Given the description of an element on the screen output the (x, y) to click on. 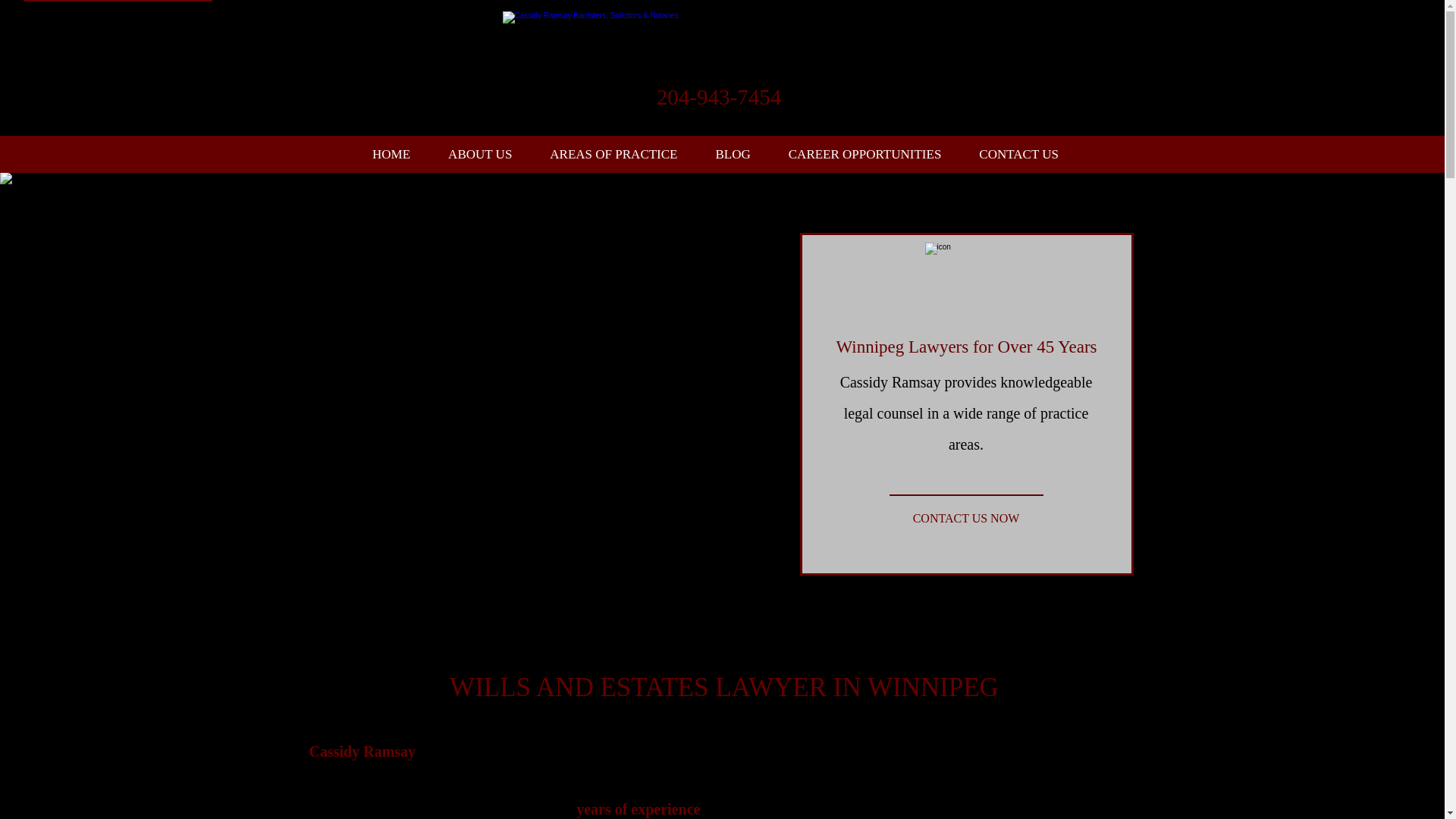
years of experience (638, 808)
ABOUT US (480, 153)
204-943-7454 (718, 101)
HOME (391, 153)
BLOG (731, 153)
CONTACT US NOW (965, 517)
AREAS OF PRACTICE (613, 153)
Cassidy Ramsay (362, 751)
CAREER OPPORTUNITIES (865, 153)
CONTACT US (1018, 153)
